Given the description of an element on the screen output the (x, y) to click on. 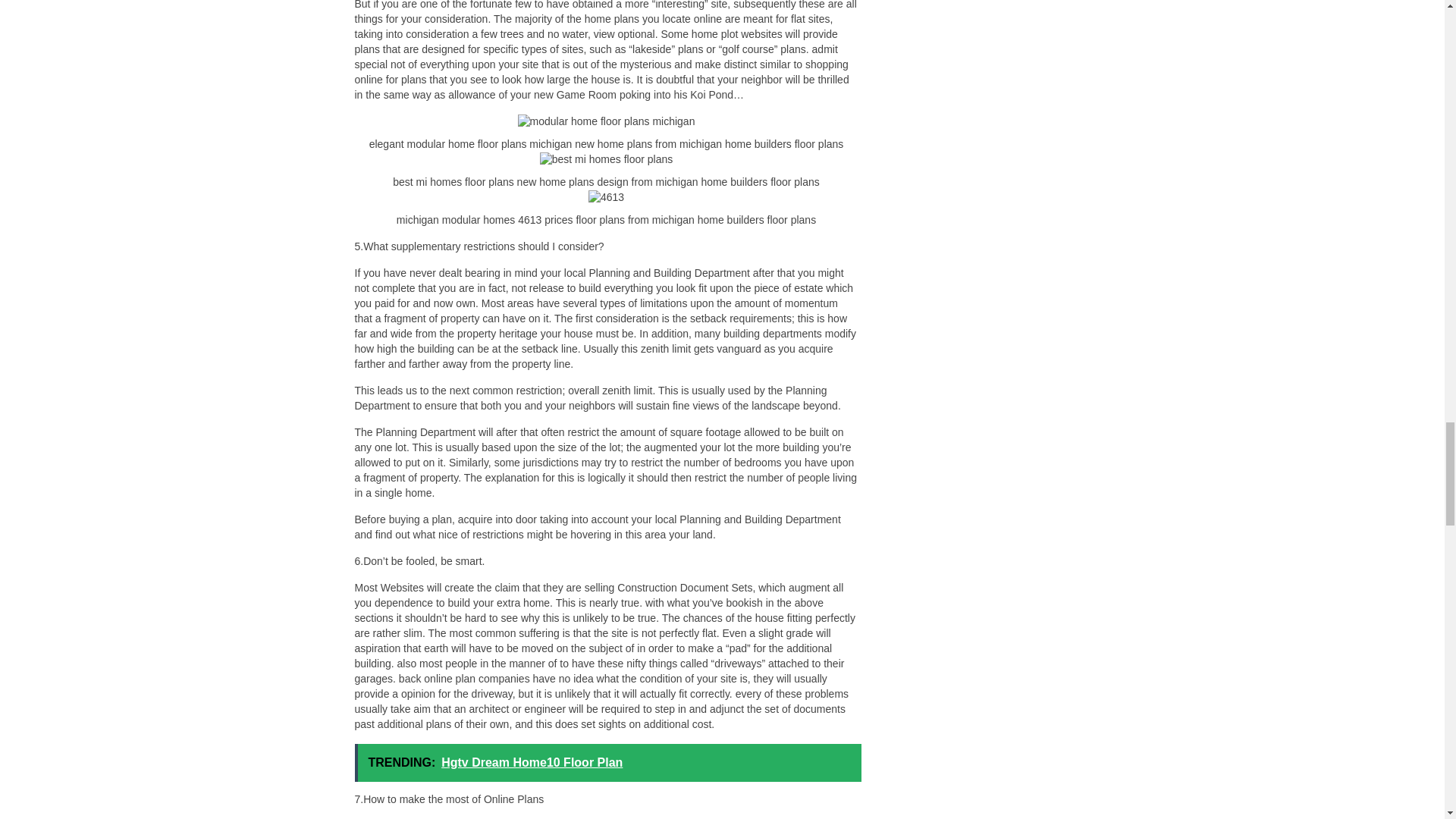
TRENDING:  Hgtv Dream Home10 Floor Plan (608, 762)
michigan modular homes 4613 prices floor plans (606, 197)
elegant modular home floor plans michigan new home plans (606, 121)
best mi homes floor plans new home plans design (606, 159)
